Given the description of an element on the screen output the (x, y) to click on. 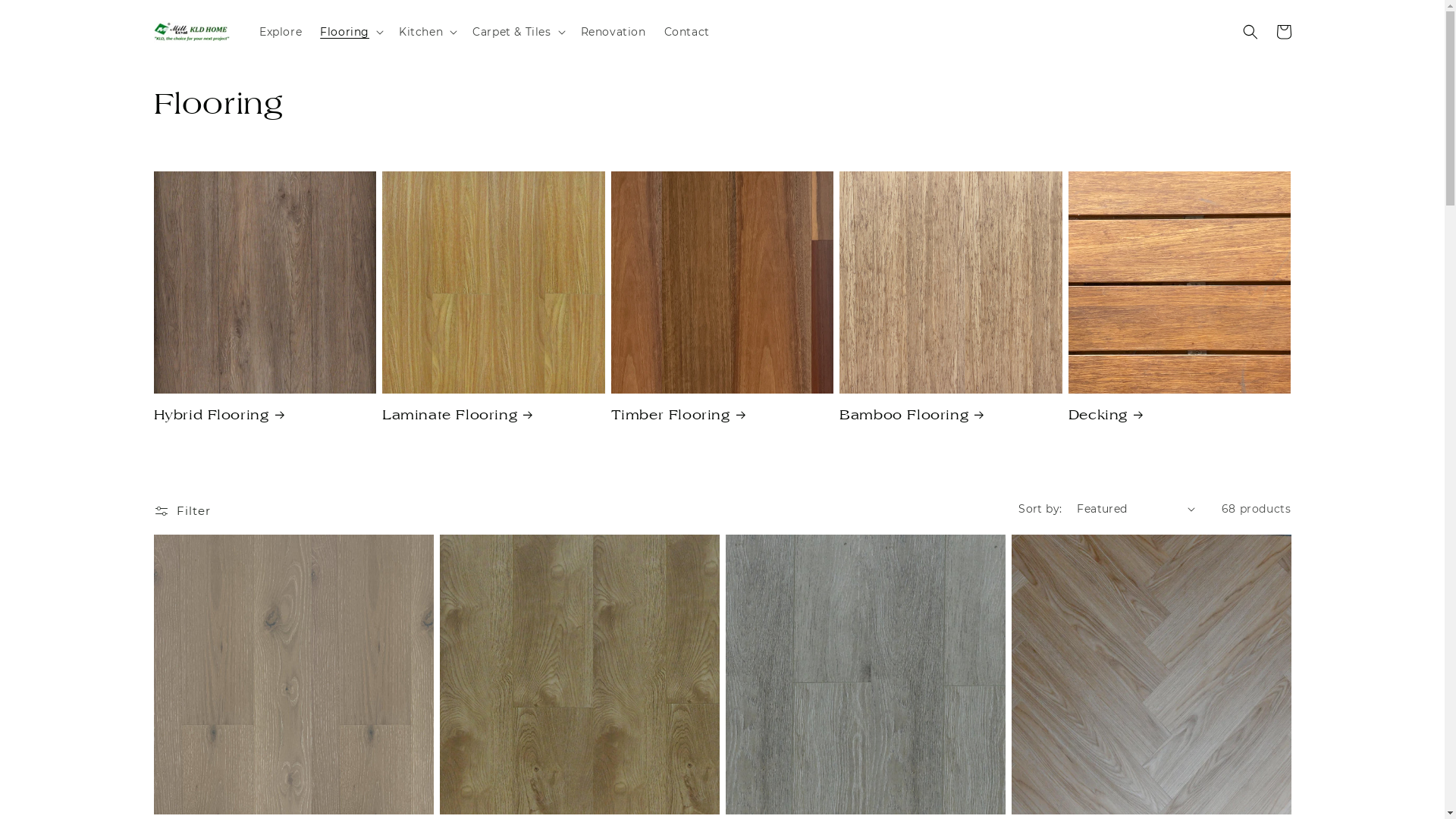
Renovation Element type: text (613, 31)
Bamboo Flooring Element type: text (950, 414)
Decking Element type: text (1179, 414)
Hybrid Flooring Element type: text (264, 414)
Laminate Flooring Element type: text (493, 414)
Timber Flooring Element type: text (722, 414)
Contact Element type: text (686, 31)
Explore Element type: text (280, 31)
Cart Element type: text (1282, 31)
